Given the description of an element on the screen output the (x, y) to click on. 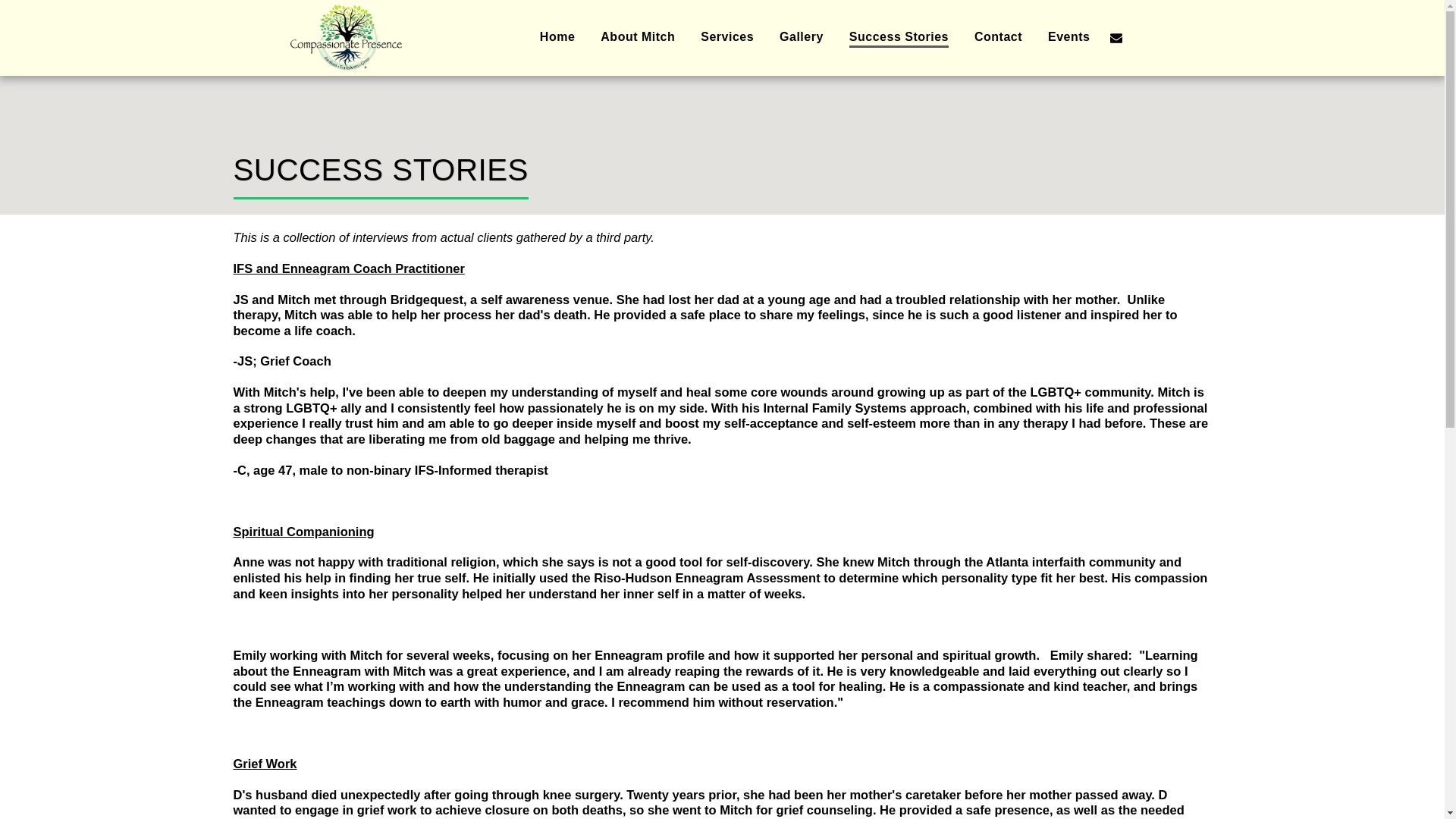
Events (1068, 37)
Services (726, 37)
About Mitch (637, 37)
Success Stories (898, 37)
Home (556, 37)
Gallery (801, 37)
Contact (997, 37)
